Given the description of an element on the screen output the (x, y) to click on. 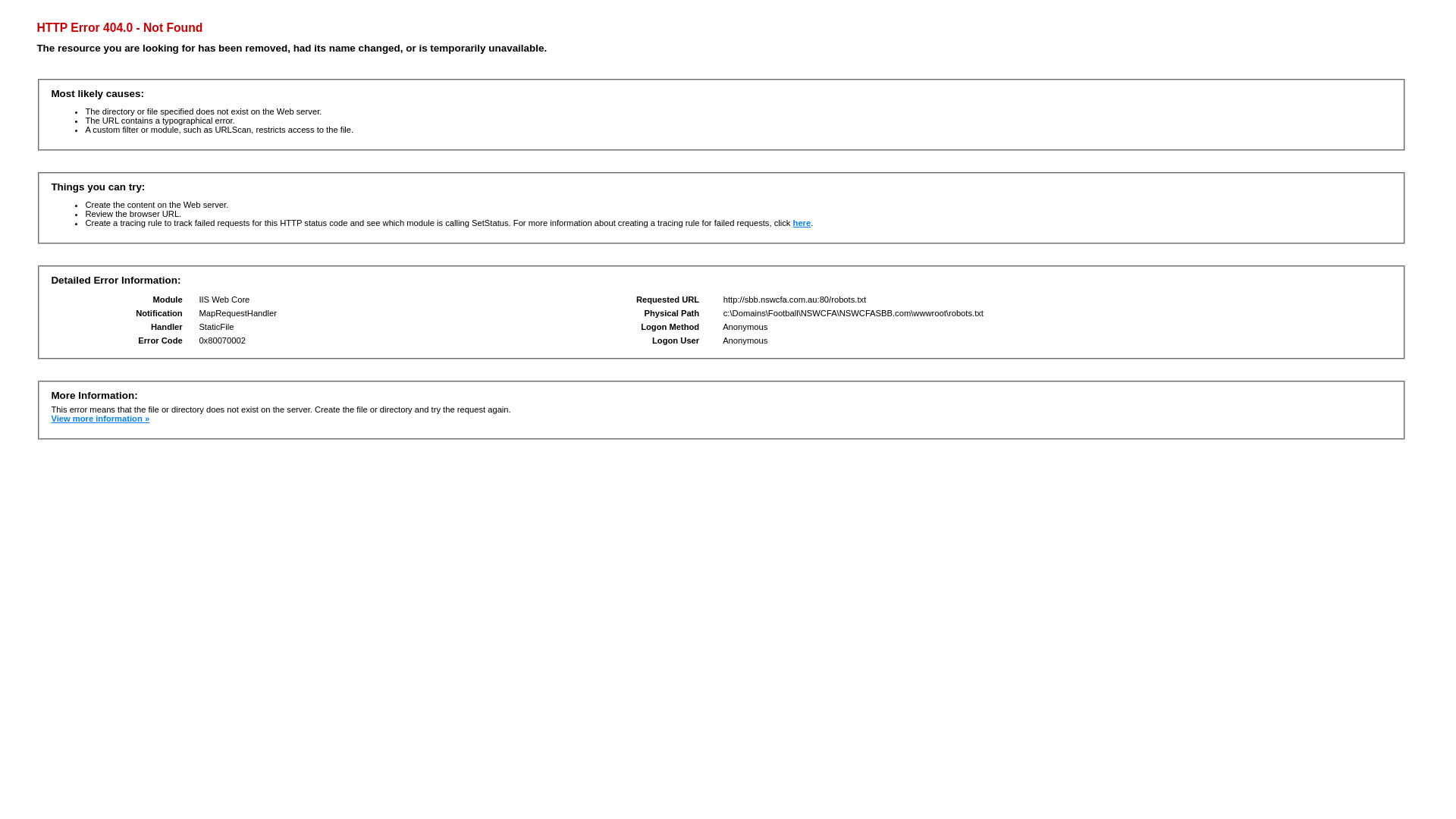
here Element type: text (802, 222)
